Given the description of an element on the screen output the (x, y) to click on. 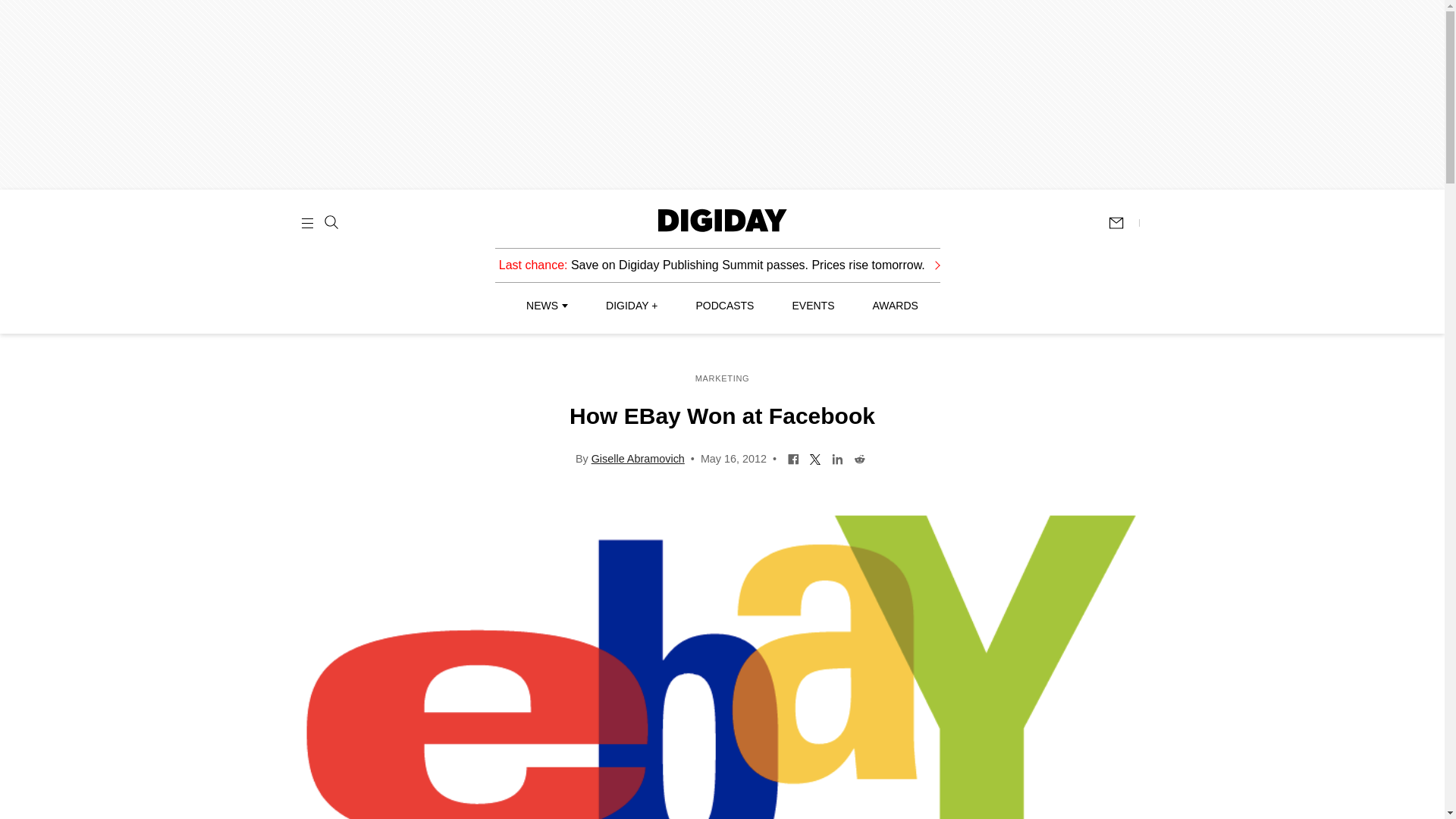
Share on Reddit (859, 458)
Share on LinkedIn (837, 458)
Share on Facebook (793, 458)
Subscribe (1123, 223)
PODCASTS (725, 305)
EVENTS (813, 305)
Share on Twitter (815, 458)
AWARDS (894, 305)
NEWS (546, 305)
